Given the description of an element on the screen output the (x, y) to click on. 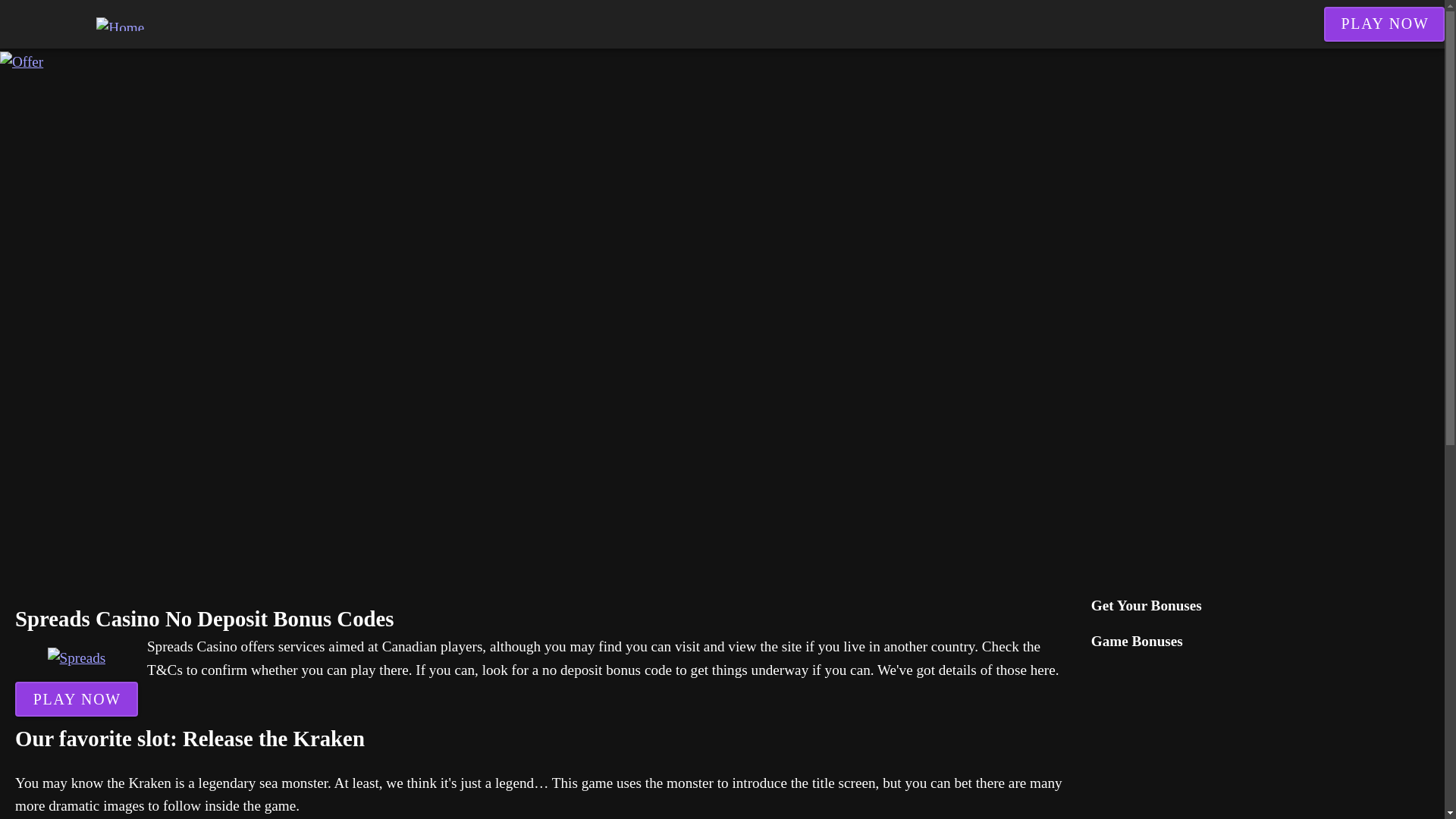
PLAY NOW (76, 698)
